Given the description of an element on the screen output the (x, y) to click on. 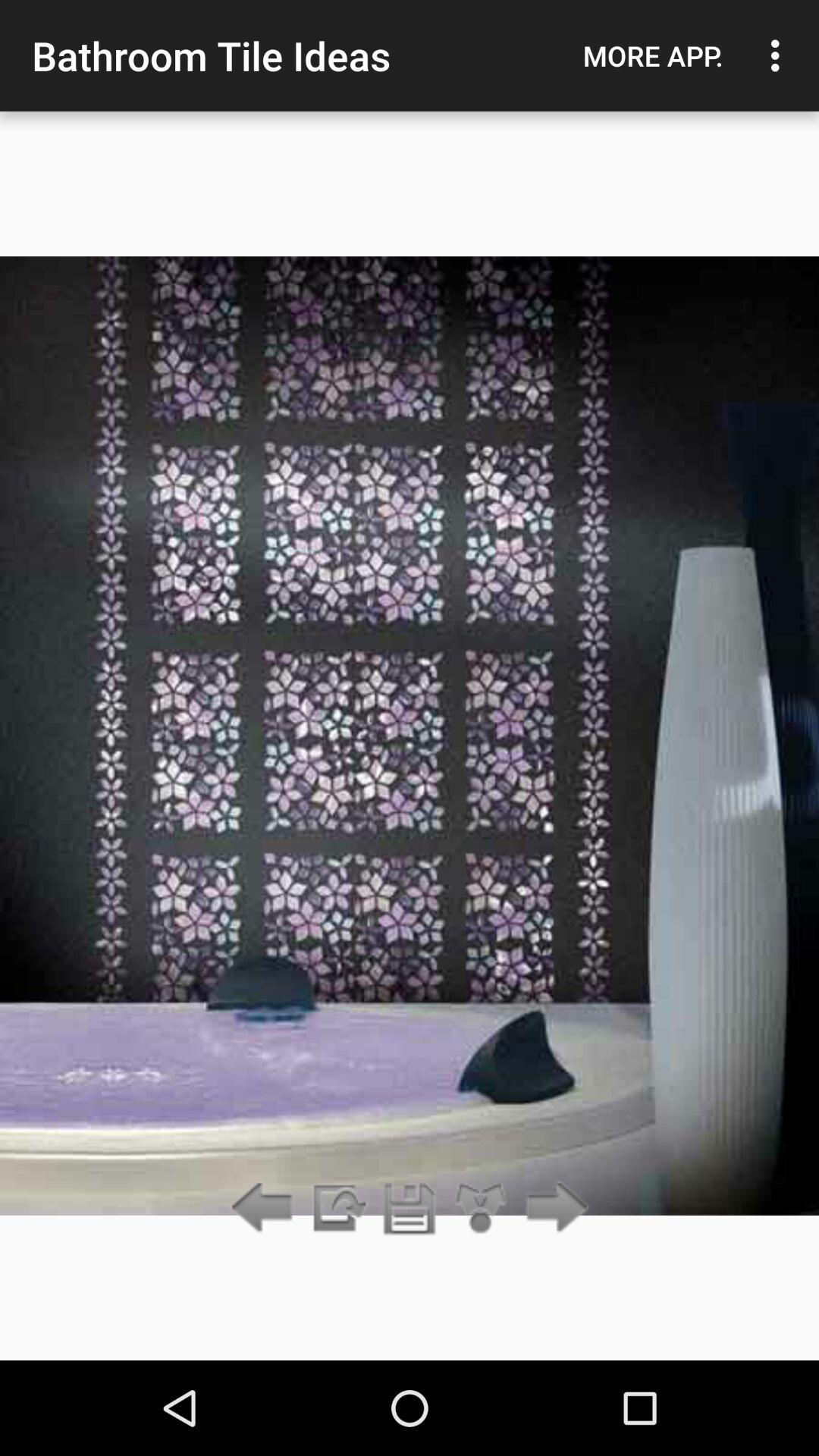
go to next page (552, 1209)
